Given the description of an element on the screen output the (x, y) to click on. 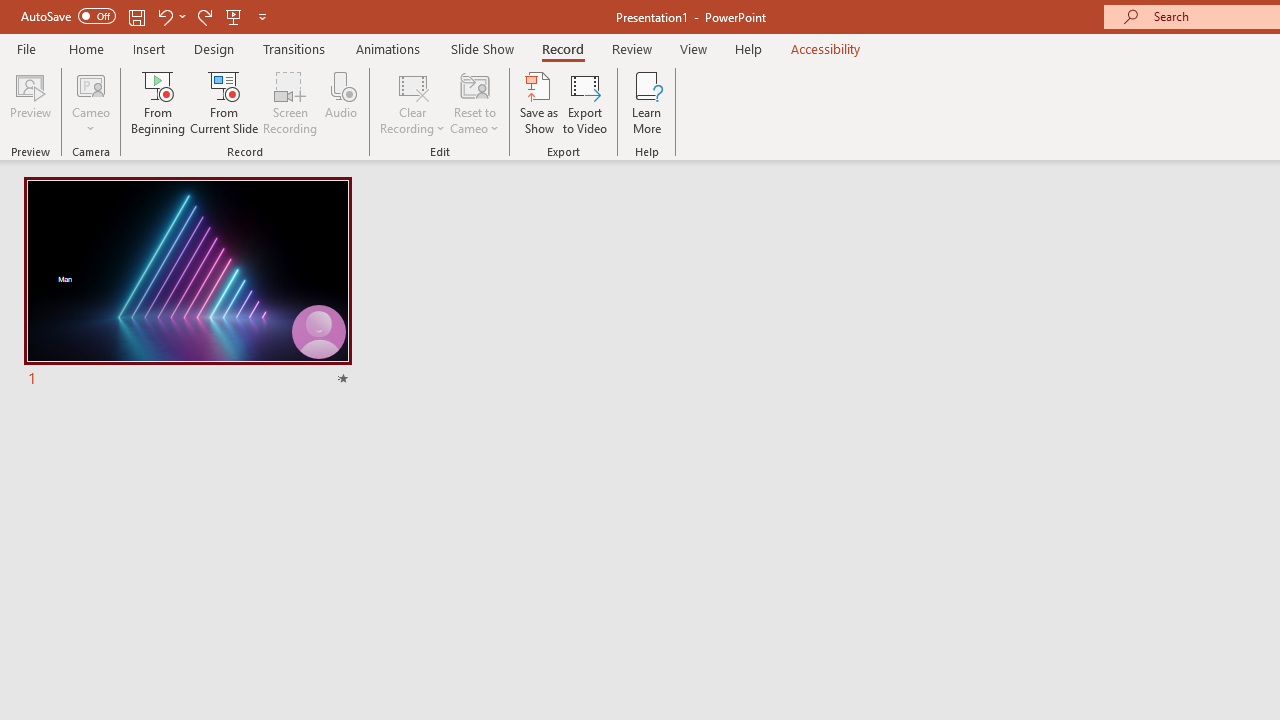
Screen Recording (290, 102)
From Beginning... (158, 102)
From Current Slide... (224, 102)
Learn More (646, 102)
Audio (341, 102)
